Given the description of an element on the screen output the (x, y) to click on. 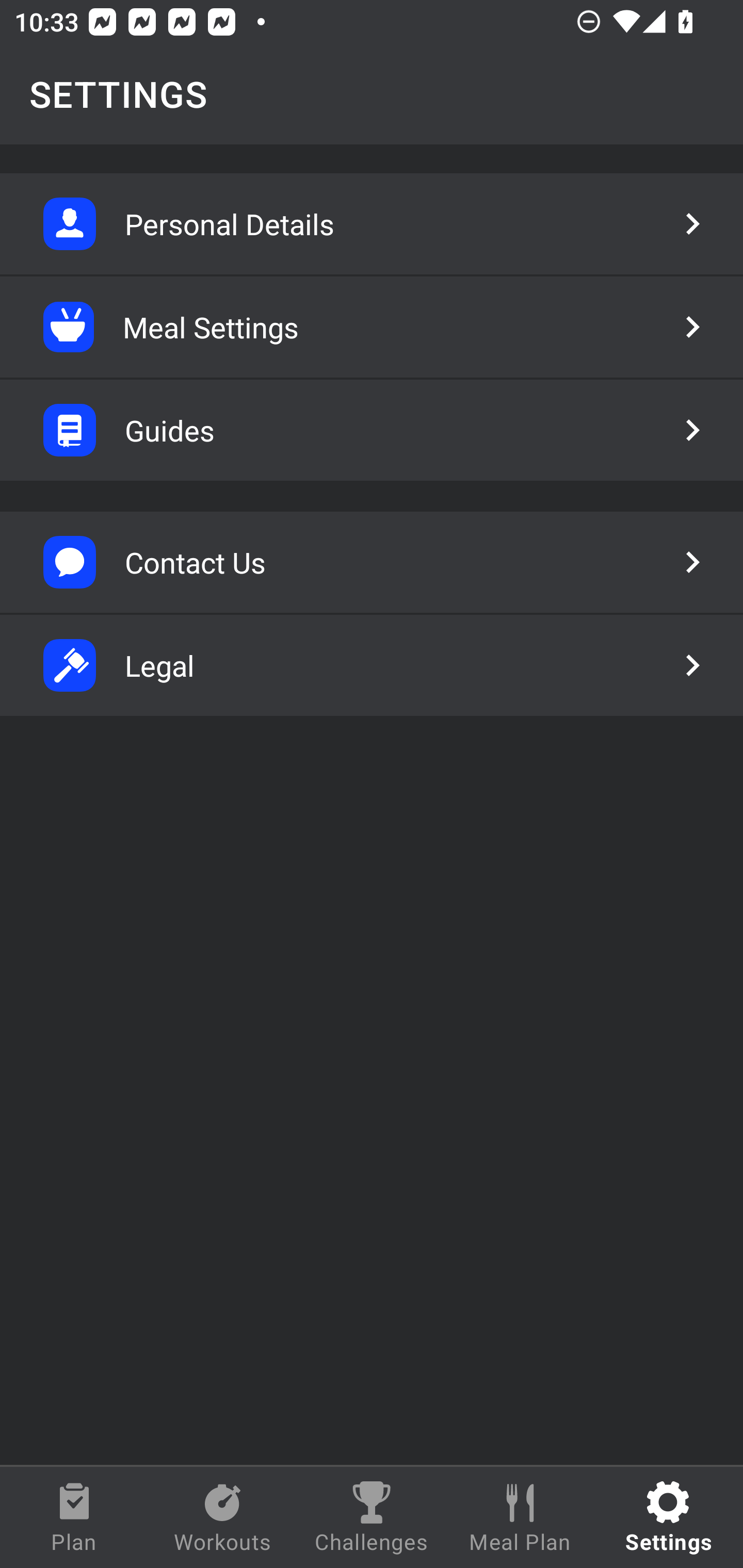
Personal Details (371, 224)
Meal Settings (371, 326)
Guides (371, 430)
Contact Us (371, 562)
Legal (371, 665)
 Plan  (74, 1517)
 Workouts  (222, 1517)
 Challenges  (371, 1517)
 Meal Plan  (519, 1517)
